Given the description of an element on the screen output the (x, y) to click on. 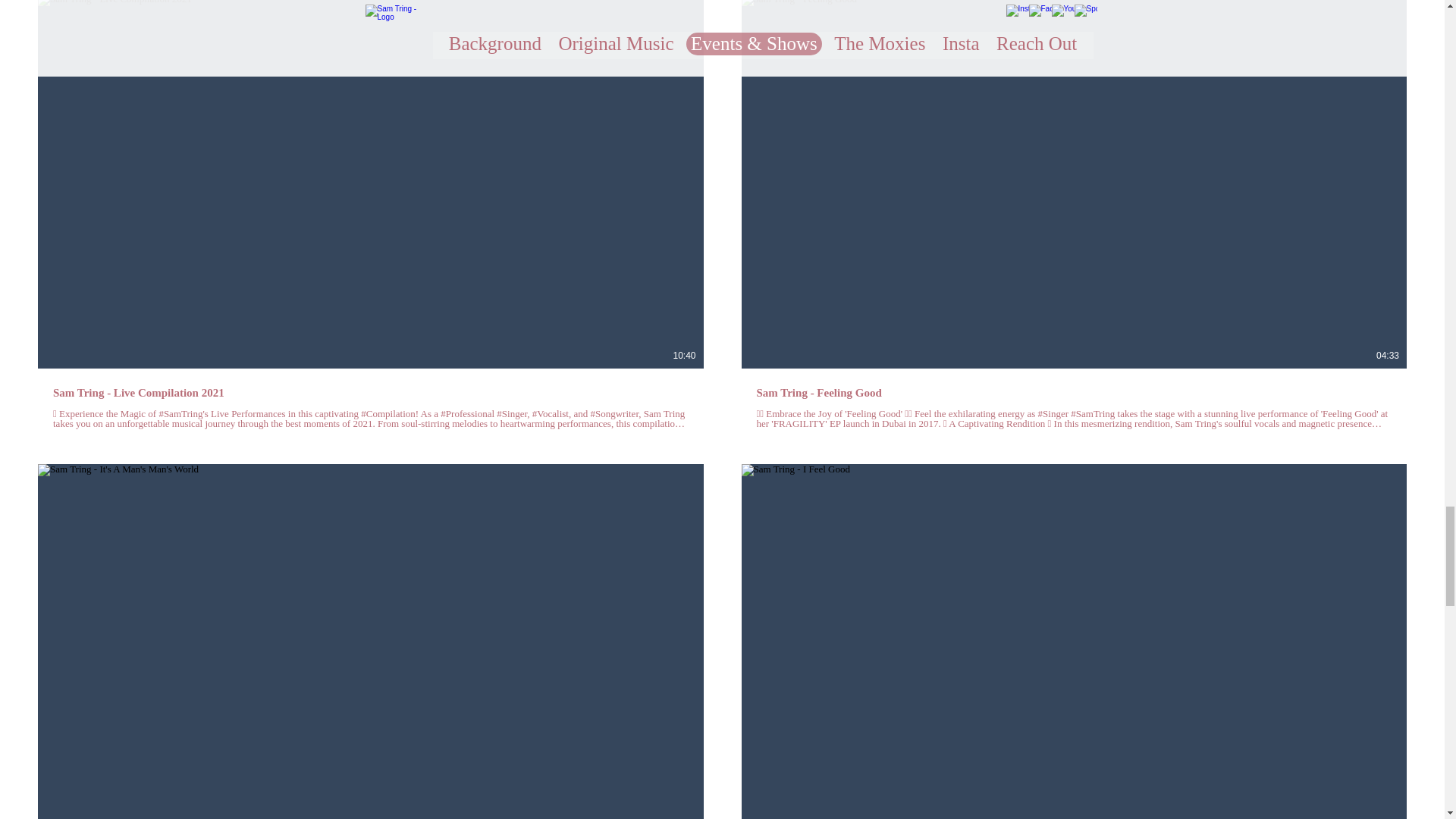
Sam Tring - Live Compilation 2021 (370, 393)
Sam Tring - Feeling Good (1074, 393)
